Given the description of an element on the screen output the (x, y) to click on. 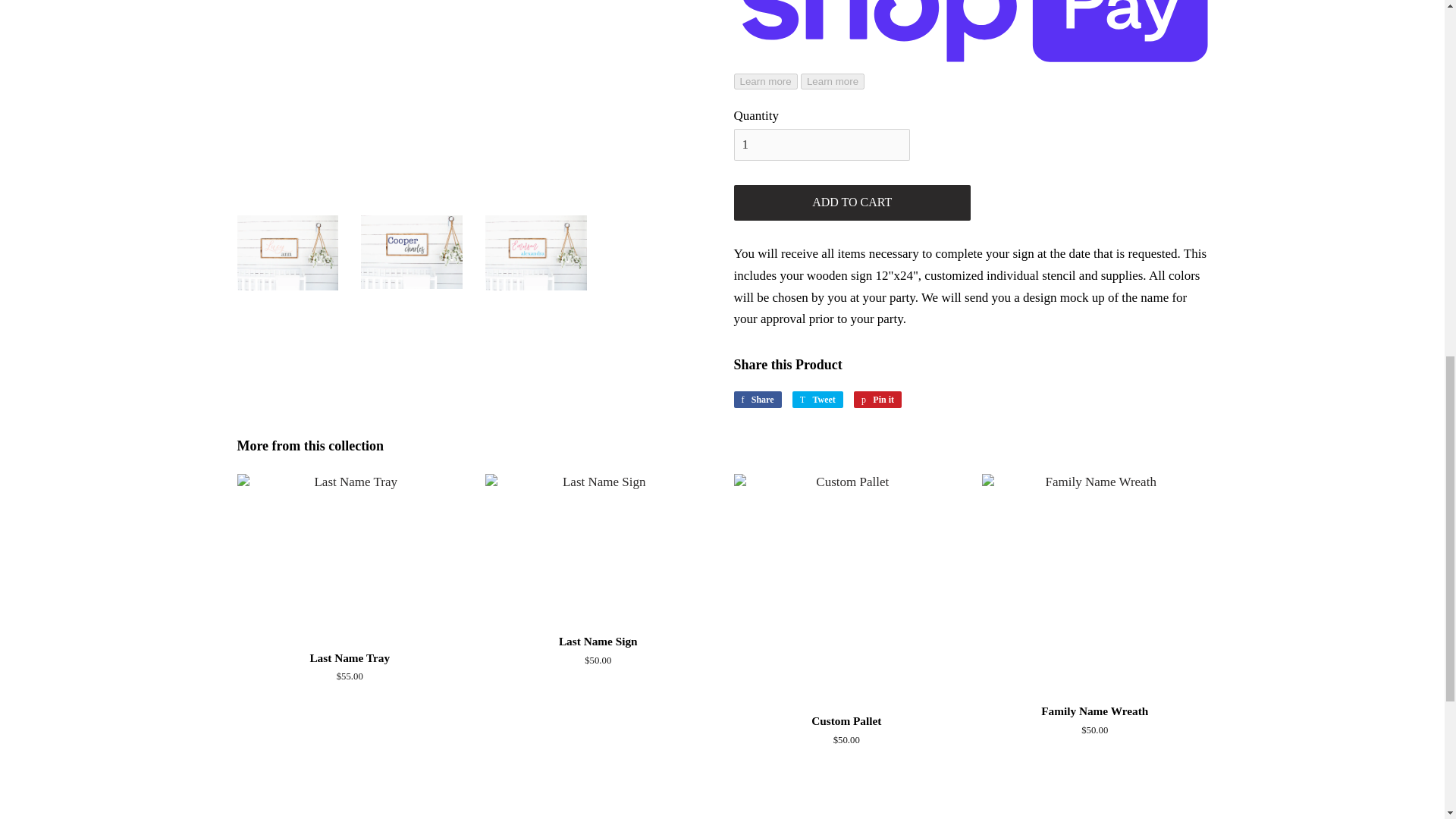
Share on Facebook (757, 399)
Tweet on Twitter (817, 399)
1 (821, 144)
Pin on Pinterest (877, 399)
